Given the description of an element on the screen output the (x, y) to click on. 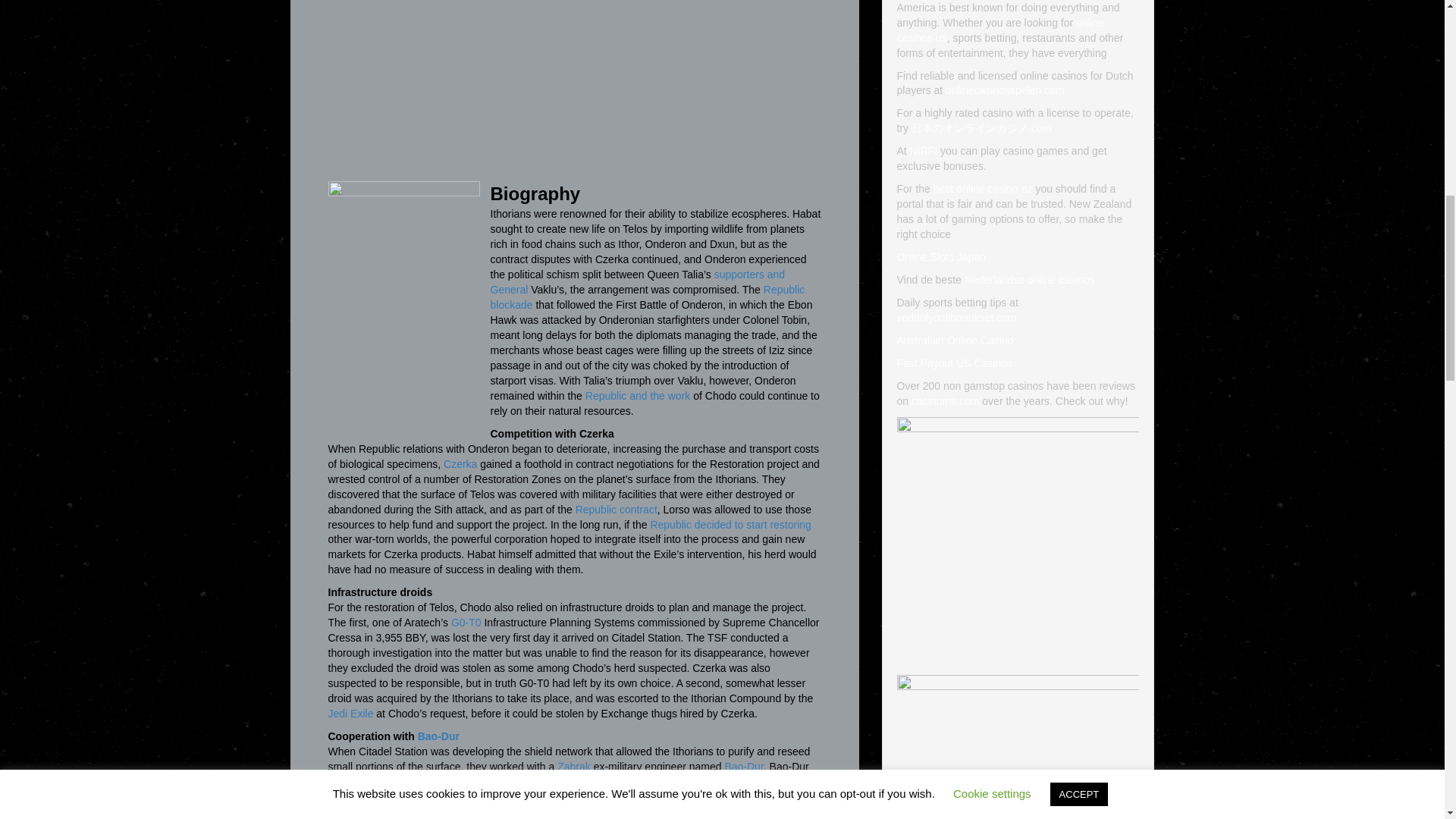
Zabrak (574, 766)
YouTube video player (509, 84)
Bao-Dur (438, 736)
